Given the description of an element on the screen output the (x, y) to click on. 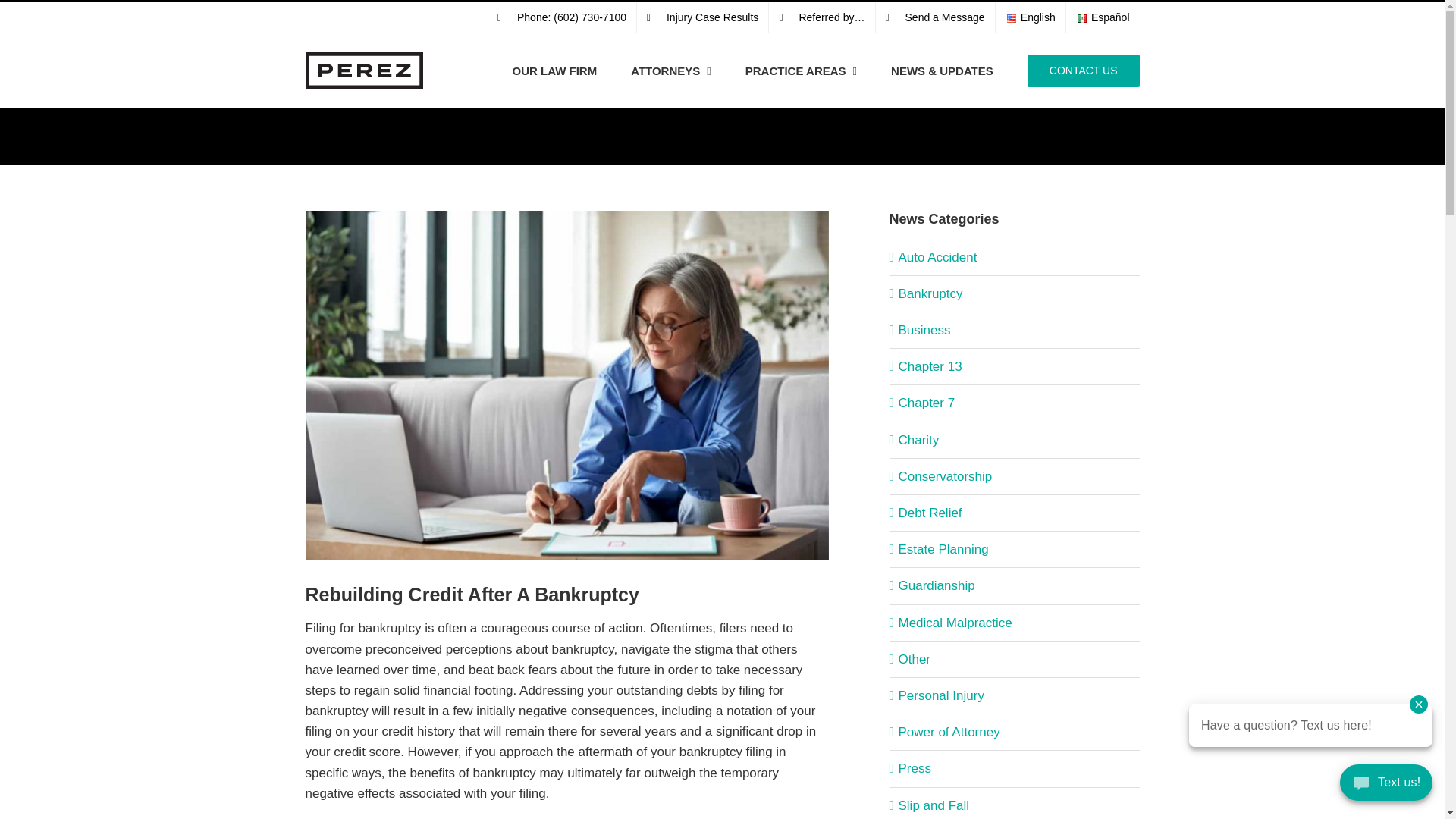
OUR LAW FIRM (554, 70)
ATTORNEYS (670, 70)
PRACTICE AREAS (801, 70)
CONTACT US (1083, 70)
Injury Case Results (702, 17)
Send a Message (935, 17)
English (1030, 17)
